Given the description of an element on the screen output the (x, y) to click on. 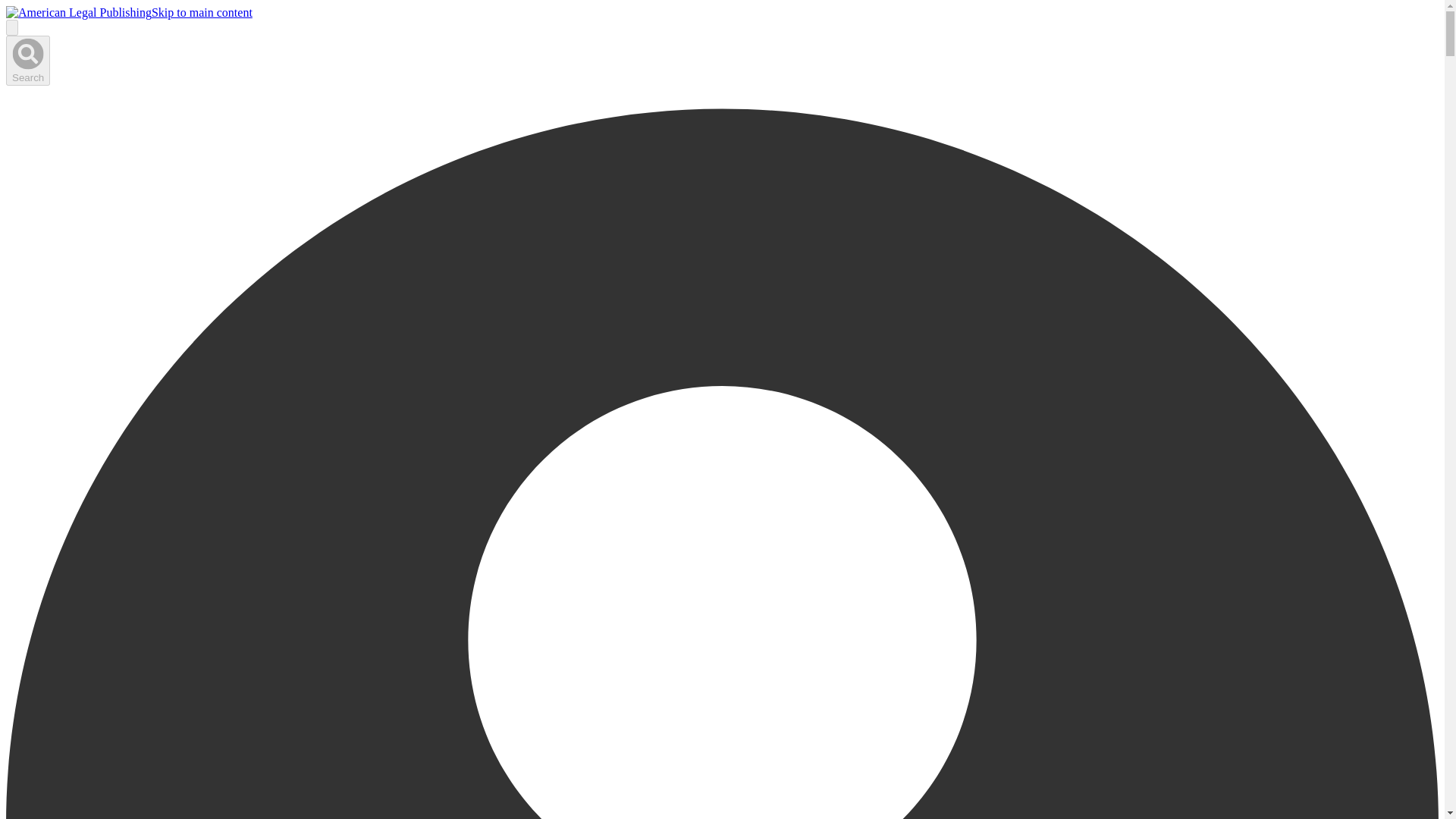
Skip to main content (201, 11)
Search (27, 60)
